Given the description of an element on the screen output the (x, y) to click on. 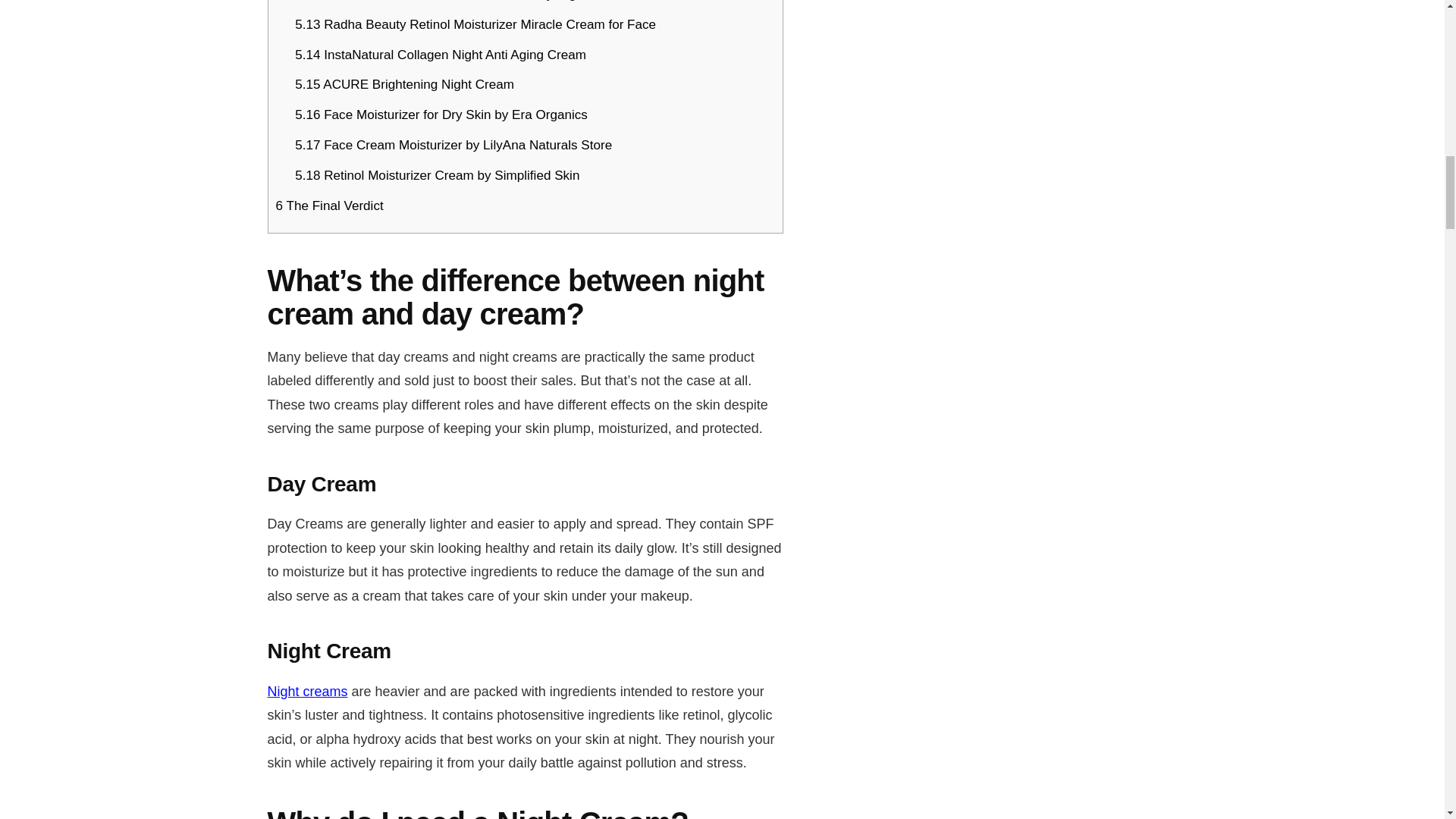
5.15 ACURE Brightening Night Cream (404, 83)
Night creams (306, 691)
Advertisement (1035, 95)
5.18 Retinol Moisturizer Cream by Simplified Skin (437, 175)
5.14 InstaNatural Collagen Night Anti Aging Cream (440, 54)
6 The Final Verdict (330, 205)
5.17 Face Cream Moisturizer by LilyAna Naturals Store (453, 145)
5.13 Radha Beauty Retinol Moisturizer Miracle Cream for Face (475, 24)
5.16 Face Moisturizer for Dry Skin by Era Organics (441, 114)
